Given the description of an element on the screen output the (x, y) to click on. 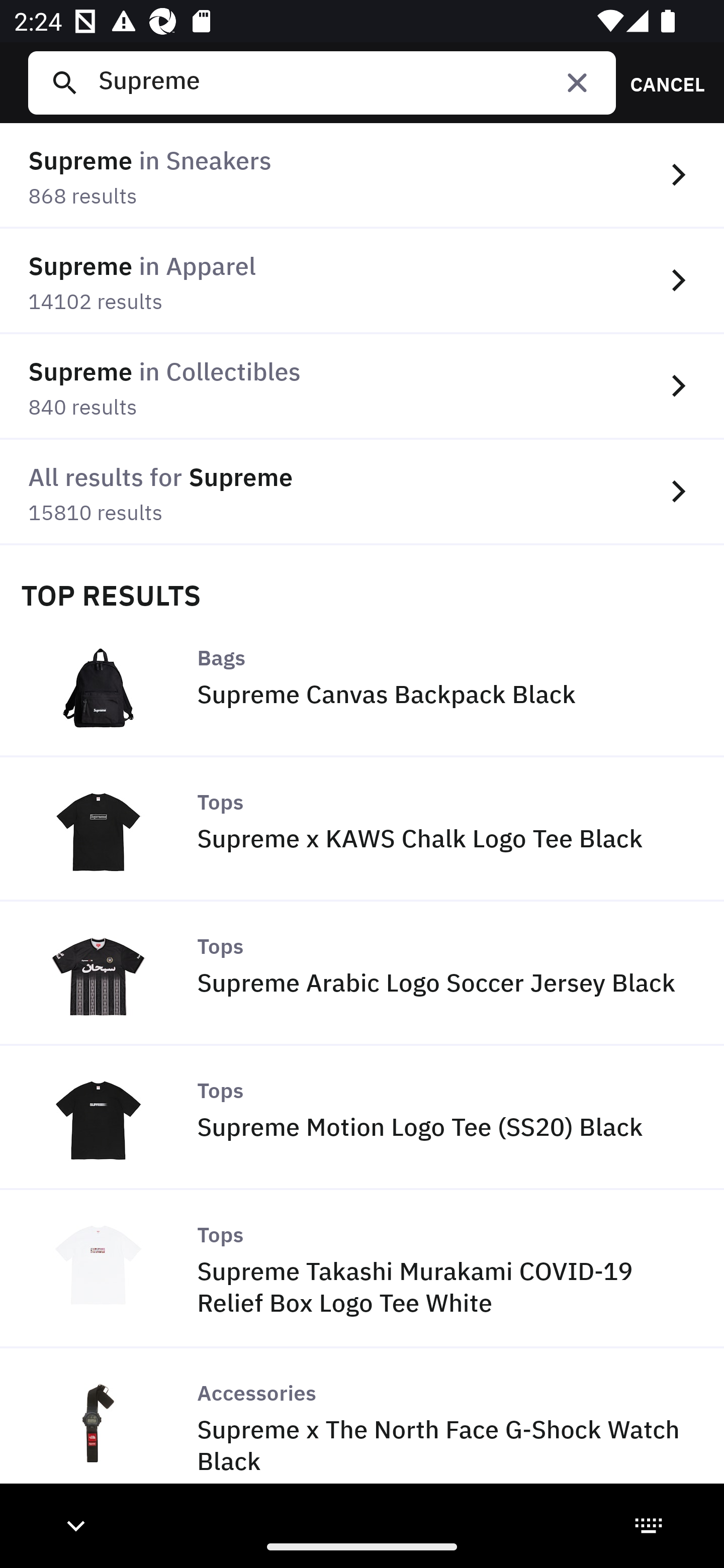
CANCEL (660, 82)
Supreme (349, 82)
 (577, 82)
Supreme  in Sneakers 868 results  (362, 175)
Supreme  in Apparel 14102 results  (362, 280)
Supreme  in Collectibles 840 results  (362, 386)
All results for  Supreme 15810 results  (362, 492)
Bags Supreme Canvas Backpack Black (362, 685)
Tops Supreme x KAWS Chalk Logo Tee Black (362, 829)
Tops Supreme Arabic Logo Soccer Jersey Black (362, 973)
Tops Supreme Motion Logo Tee (SS20) Black (362, 1117)
